Given the description of an element on the screen output the (x, y) to click on. 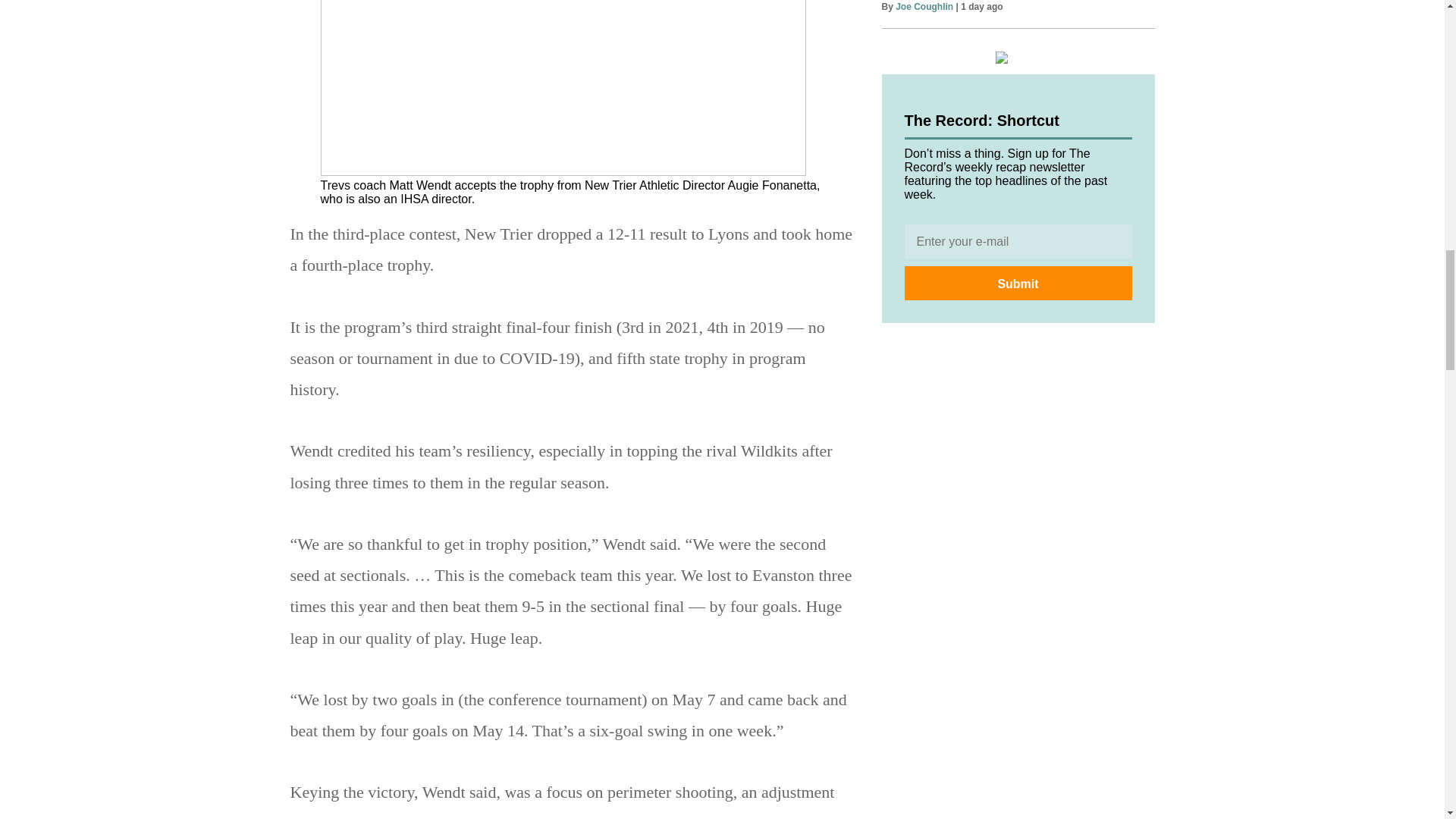
Submit (1017, 283)
